Given the description of an element on the screen output the (x, y) to click on. 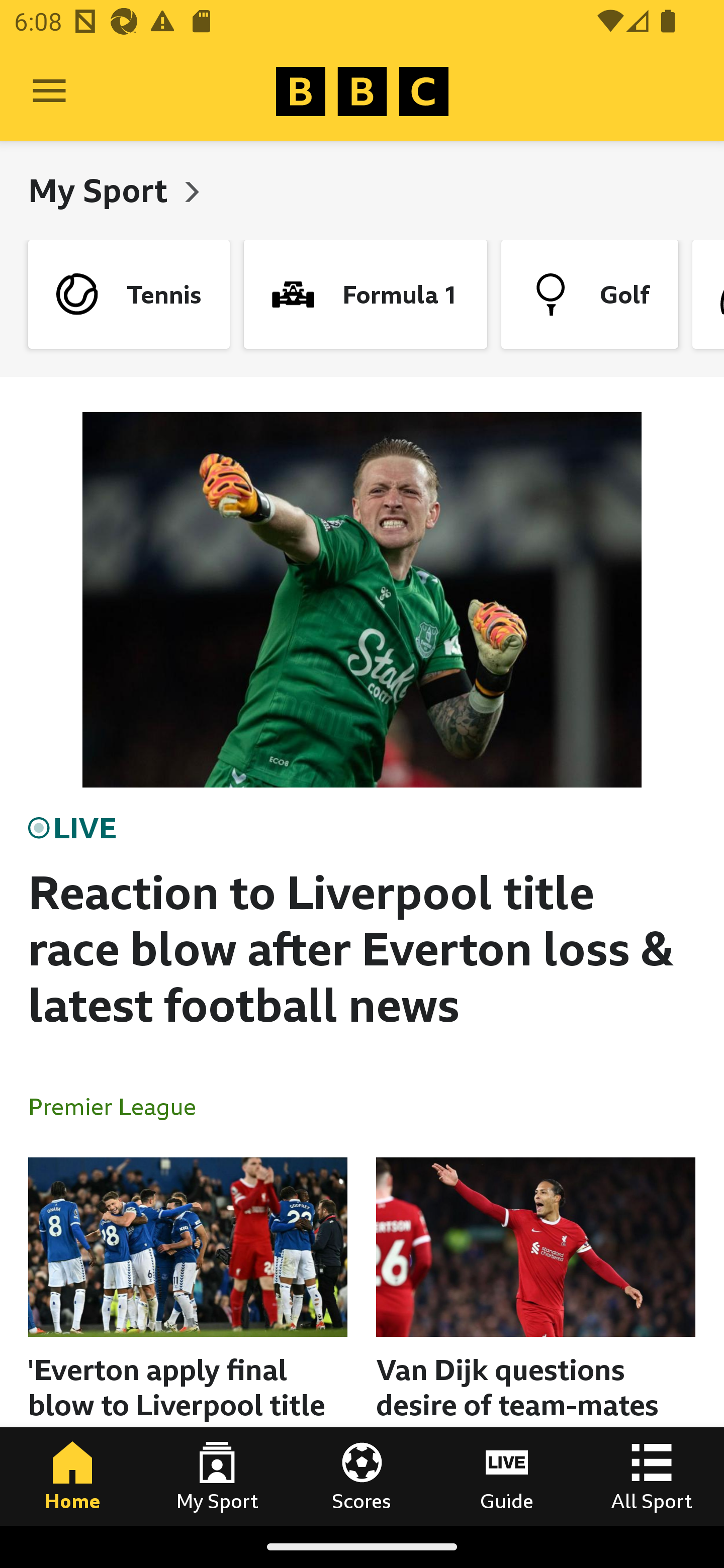
Open Menu (49, 91)
My Sport (101, 190)
Premier League In the section Premier League (119, 1106)
My Sport (216, 1475)
Scores (361, 1475)
Guide (506, 1475)
All Sport (651, 1475)
